Given the description of an element on the screen output the (x, y) to click on. 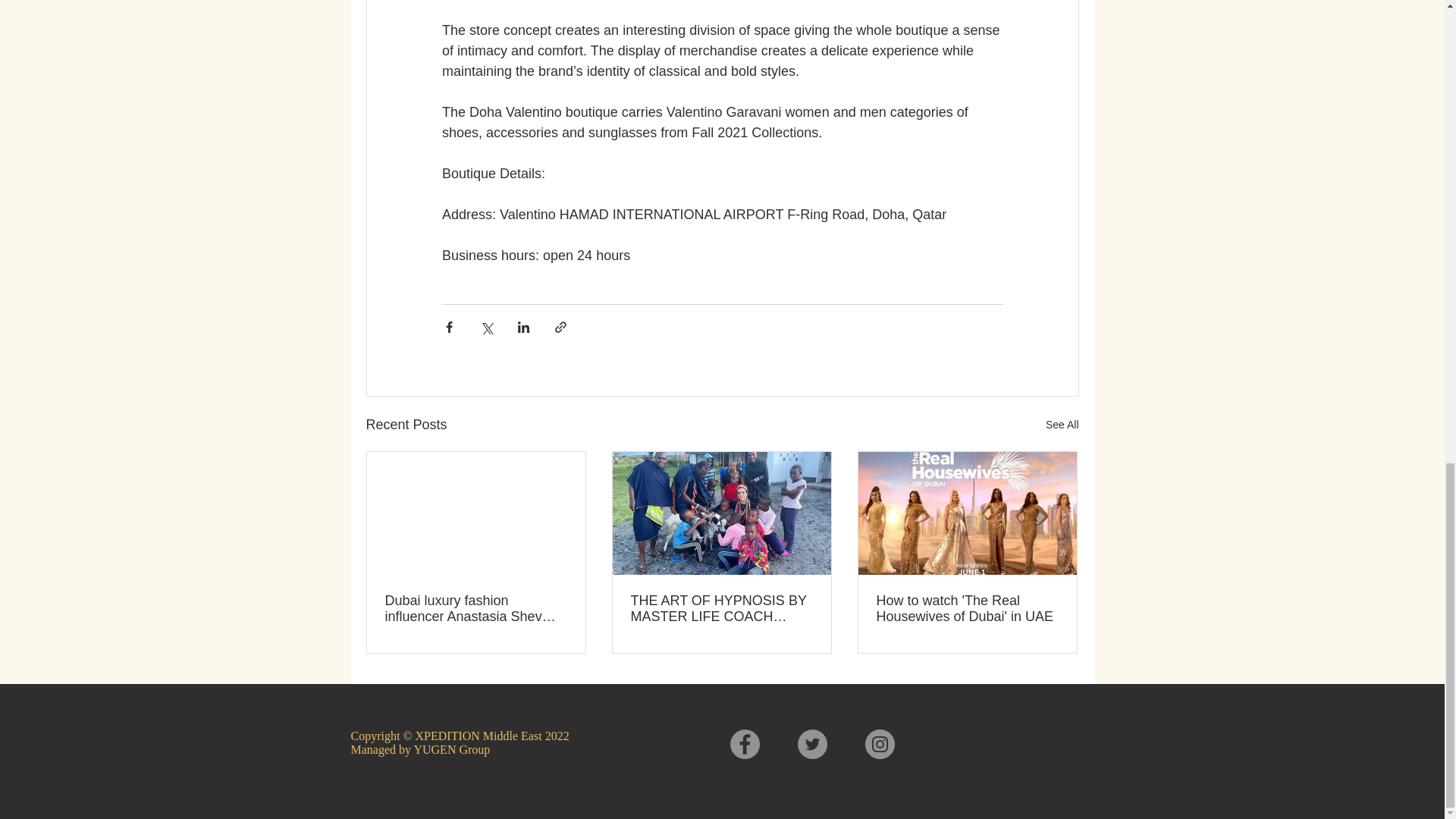
See All (1061, 424)
THE ART OF HYPNOSIS BY MASTER LIFE COACH YESMIN BEN HAMMOUDA (721, 608)
How to watch 'The Real Housewives of Dubai' in UAE (967, 608)
